Given the description of an element on the screen output the (x, y) to click on. 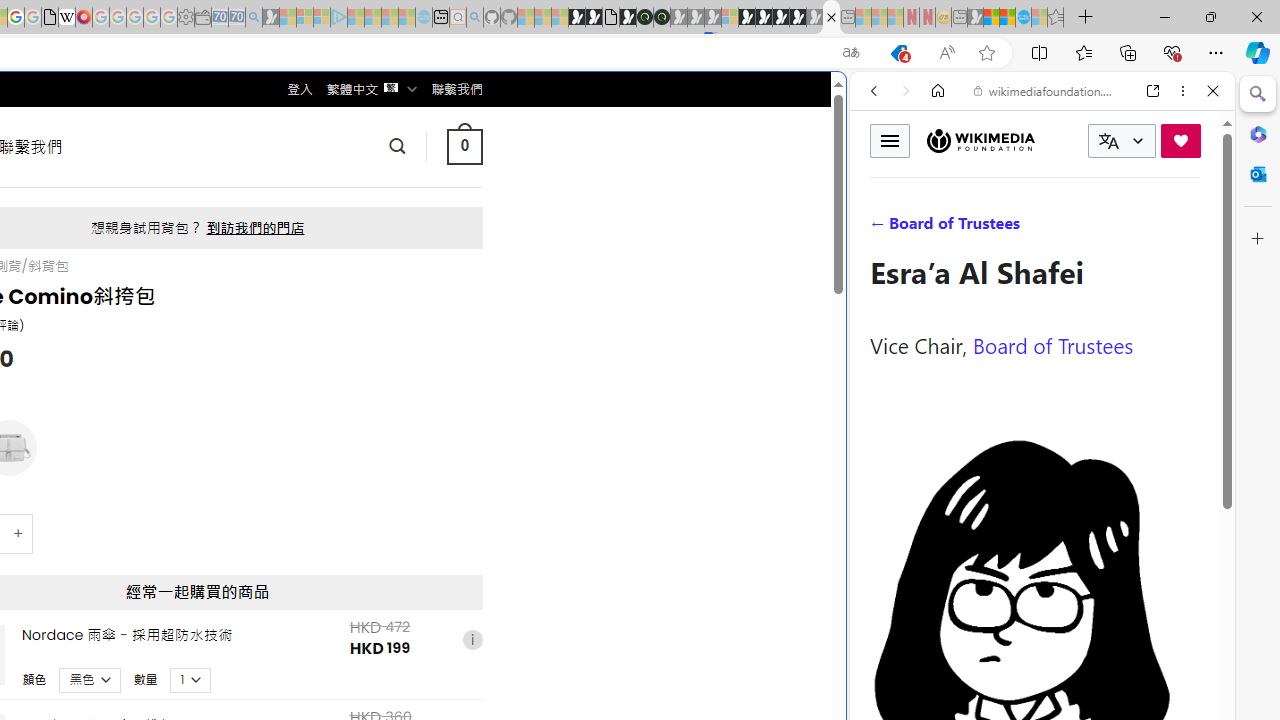
Frequently visited (418, 265)
Class: upsell-v2-product-upsell-variable-product-qty-select (191, 679)
  0   (464, 146)
MSN - Sleeping (975, 17)
